Given the description of an element on the screen output the (x, y) to click on. 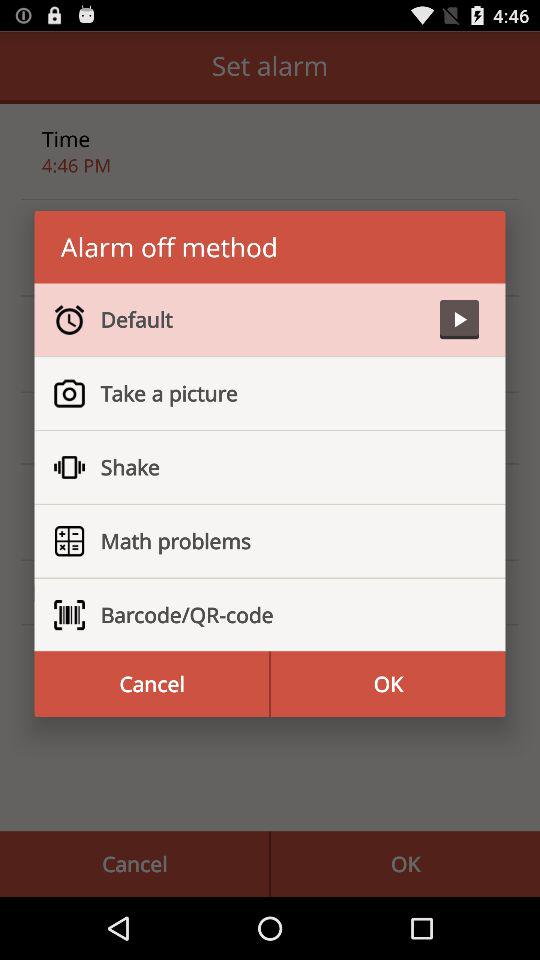
click the item at the bottom right corner (387, 683)
